Given the description of an element on the screen output the (x, y) to click on. 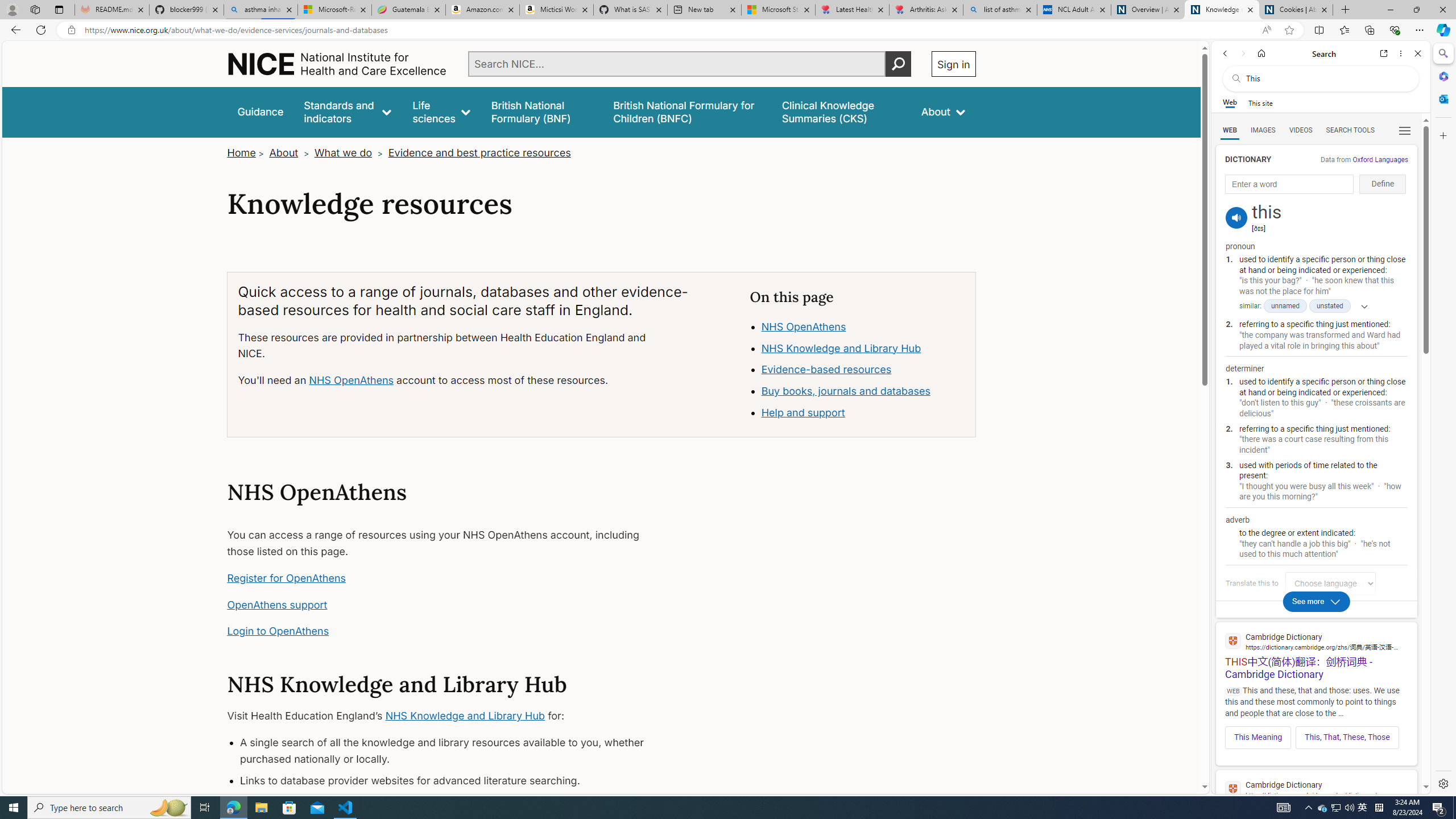
What we do (343, 152)
Evidence-based resources (826, 369)
unstated (1329, 305)
This, That, These, Those (1347, 737)
